Given the description of an element on the screen output the (x, y) to click on. 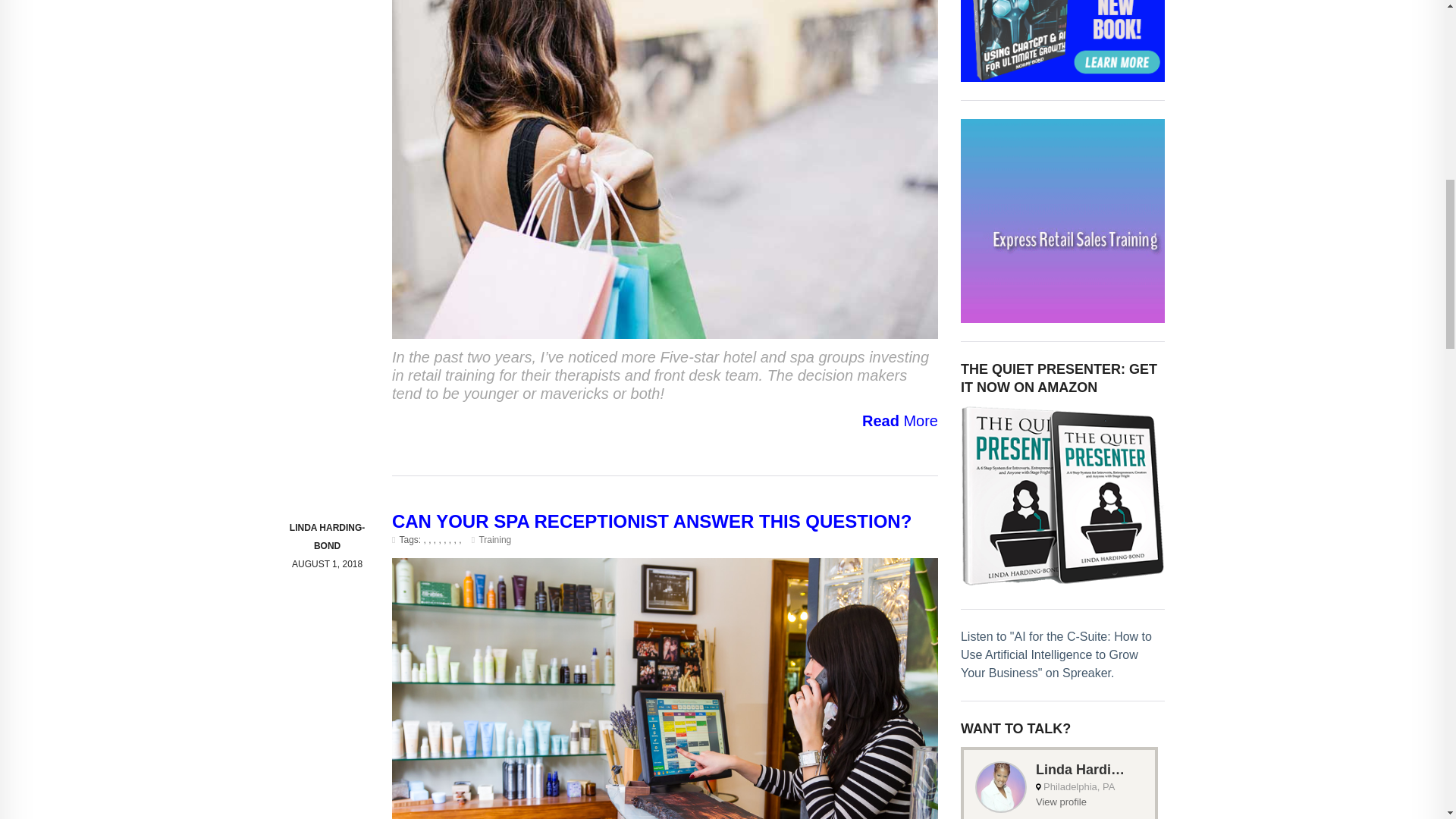
Training (495, 539)
Permalink to Can Your Spa Receptionist Answer This Question? (651, 521)
CAN YOUR SPA RECEPTIONIST ANSWER THIS QUESTION? (651, 521)
Read More (664, 420)
Get It on Amazon (1063, 496)
